Given the description of an element on the screen output the (x, y) to click on. 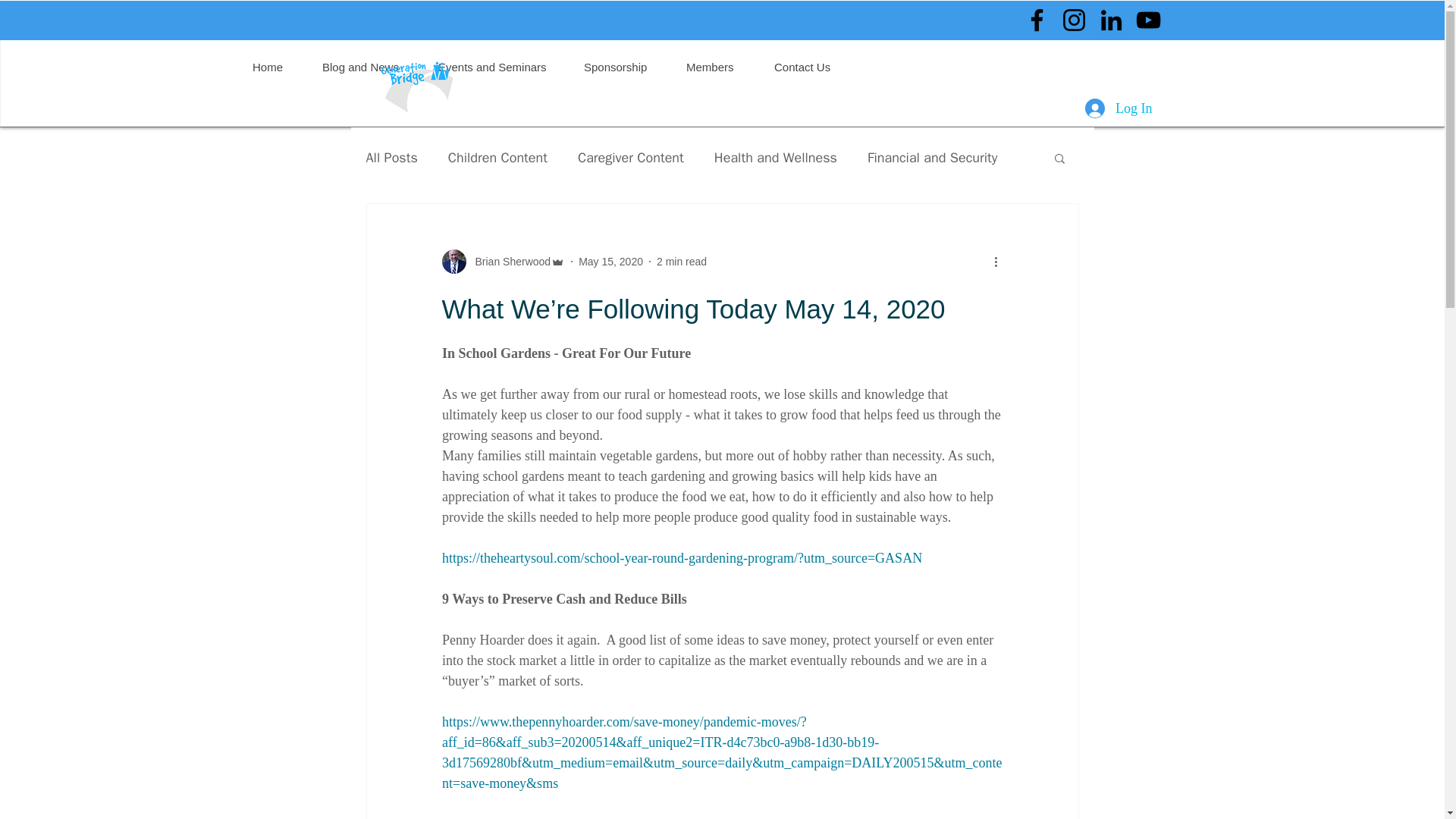
Events and Seminars (499, 66)
Home (275, 66)
Brian Sherwood (502, 261)
Health and Wellness (775, 157)
Log In (1118, 108)
Children Content (497, 157)
Brian Sherwood (507, 261)
Contact Us (809, 66)
Members (717, 66)
Sponsorship (623, 66)
May 15, 2020 (610, 260)
Financial and Security (932, 157)
2 min read (681, 260)
Caregiver Content (631, 157)
Blog and News (368, 66)
